Given the description of an element on the screen output the (x, y) to click on. 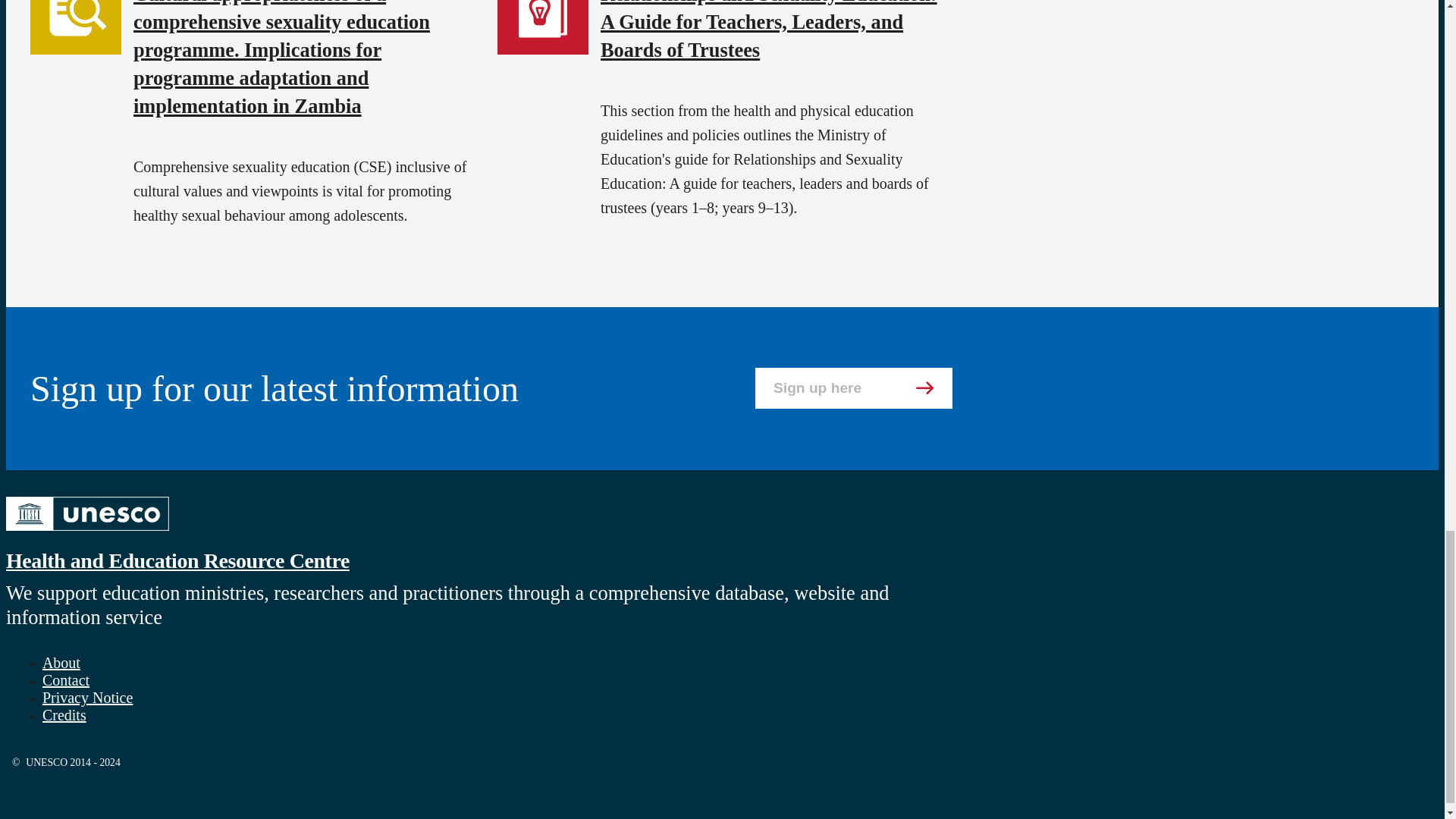
Home (86, 532)
Home (177, 560)
